Given the description of an element on the screen output the (x, y) to click on. 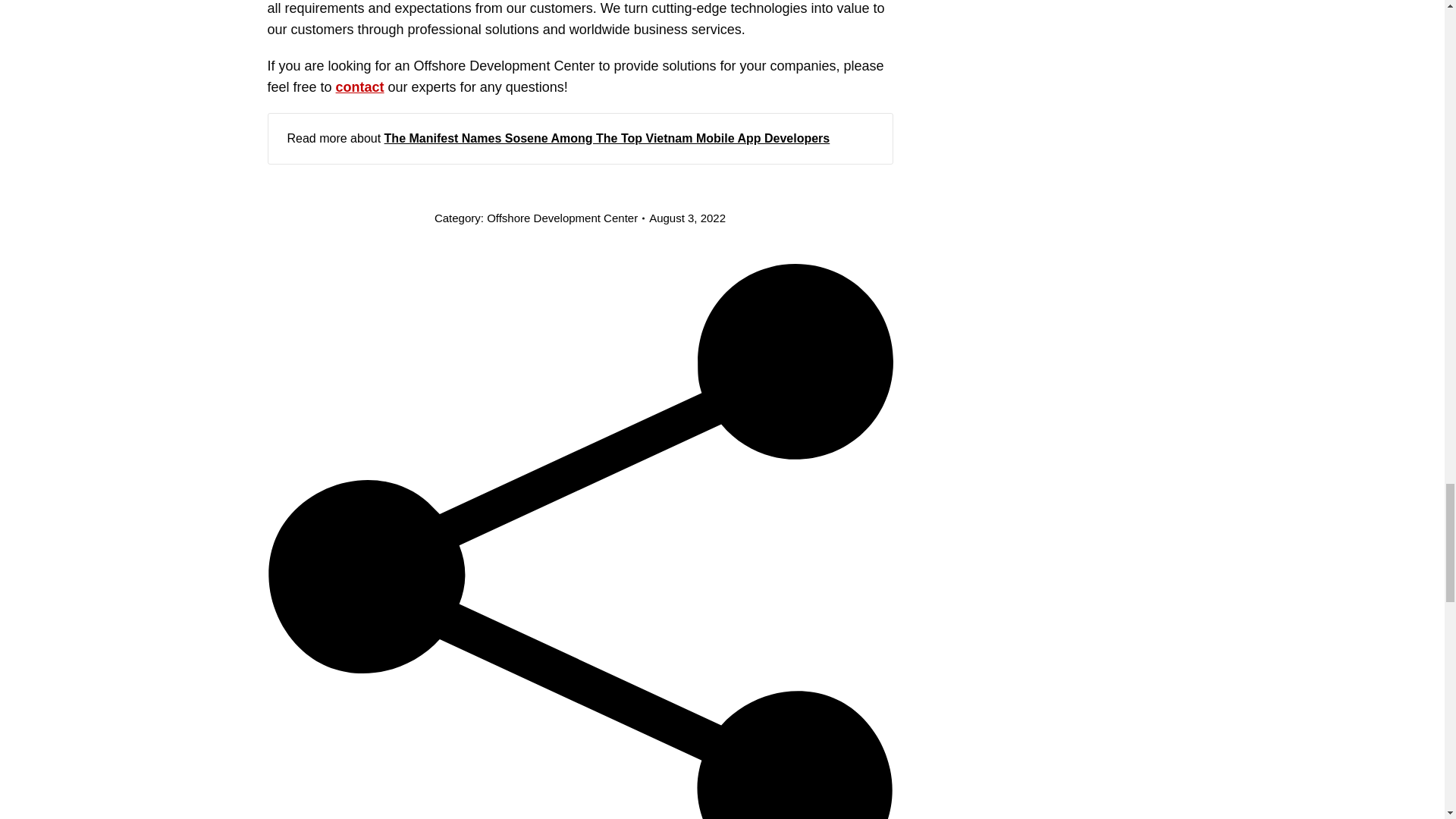
11:01 am (687, 218)
